Given the description of an element on the screen output the (x, y) to click on. 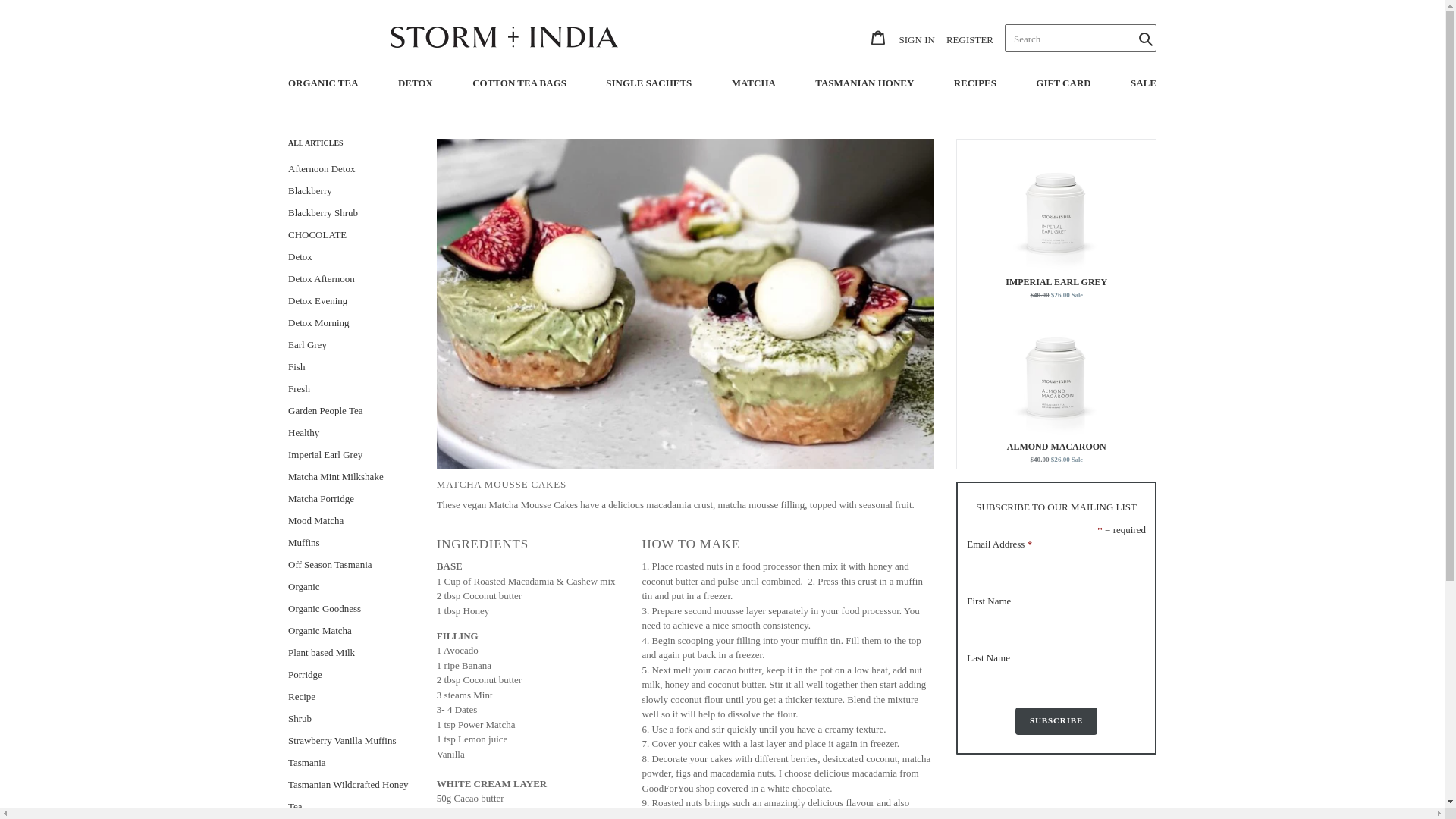
Earl Grey (350, 343)
ORGANIC TEA (323, 84)
Submit (1143, 38)
Detox Evening (350, 299)
COTTON TEA BAGS (518, 84)
GIFT CARD (1062, 84)
Blackberry Shrub (863, 37)
ALL ARTICLES (350, 211)
